Given the description of an element on the screen output the (x, y) to click on. 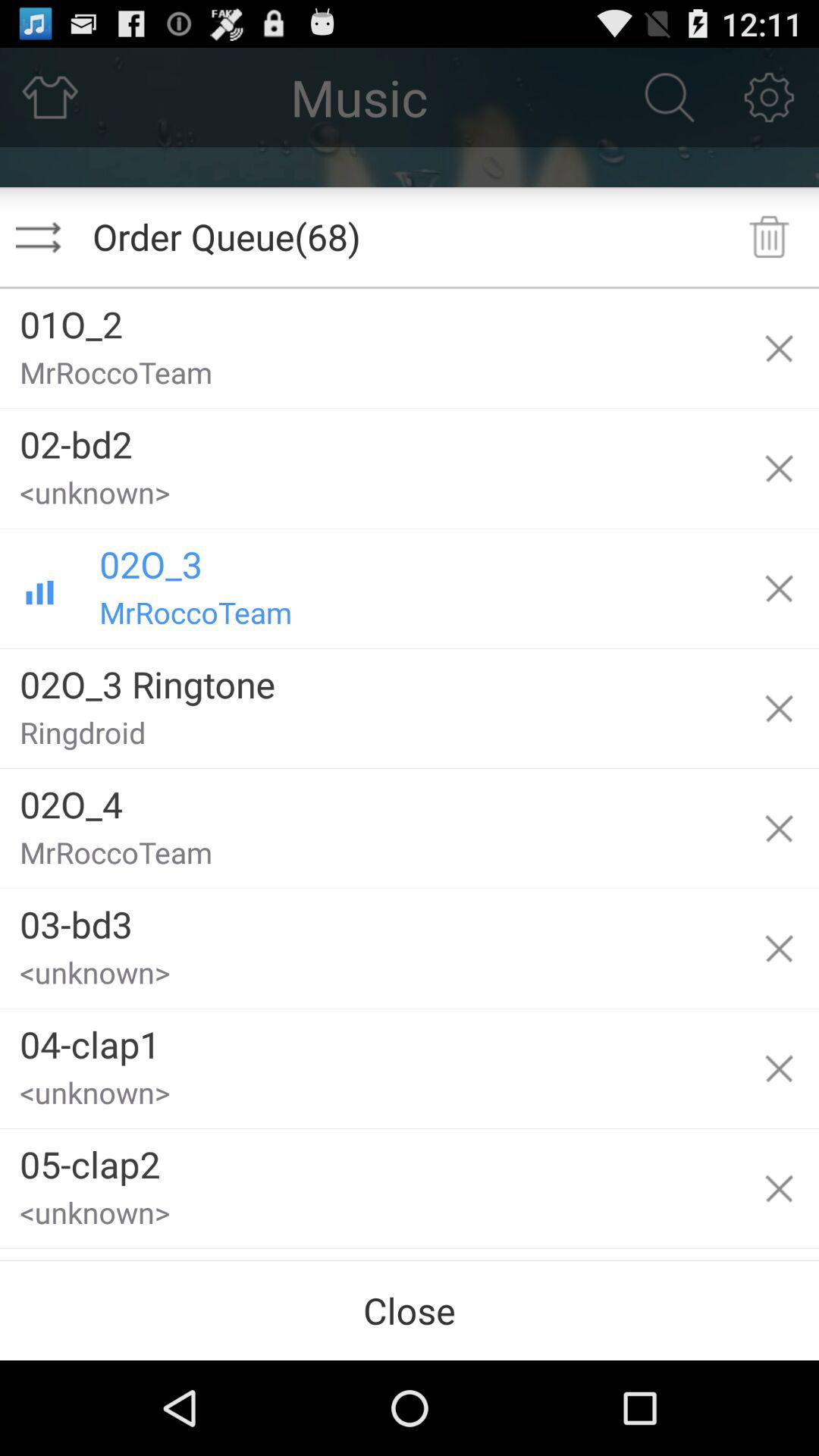
flip to 06-crash1 app (369, 1254)
